Given the description of an element on the screen output the (x, y) to click on. 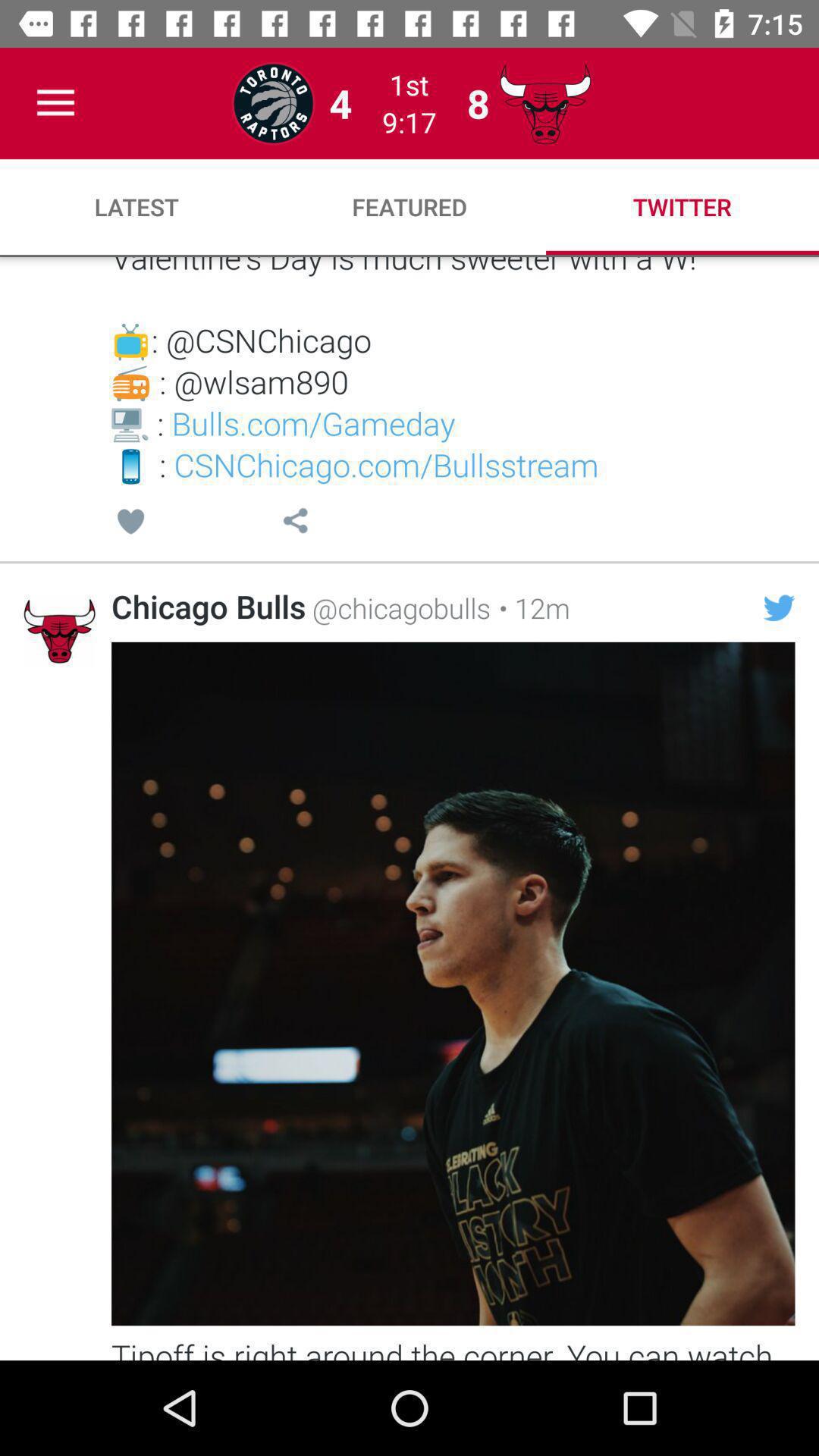
flip to the tipoff is right item (453, 1347)
